Given the description of an element on the screen output the (x, y) to click on. 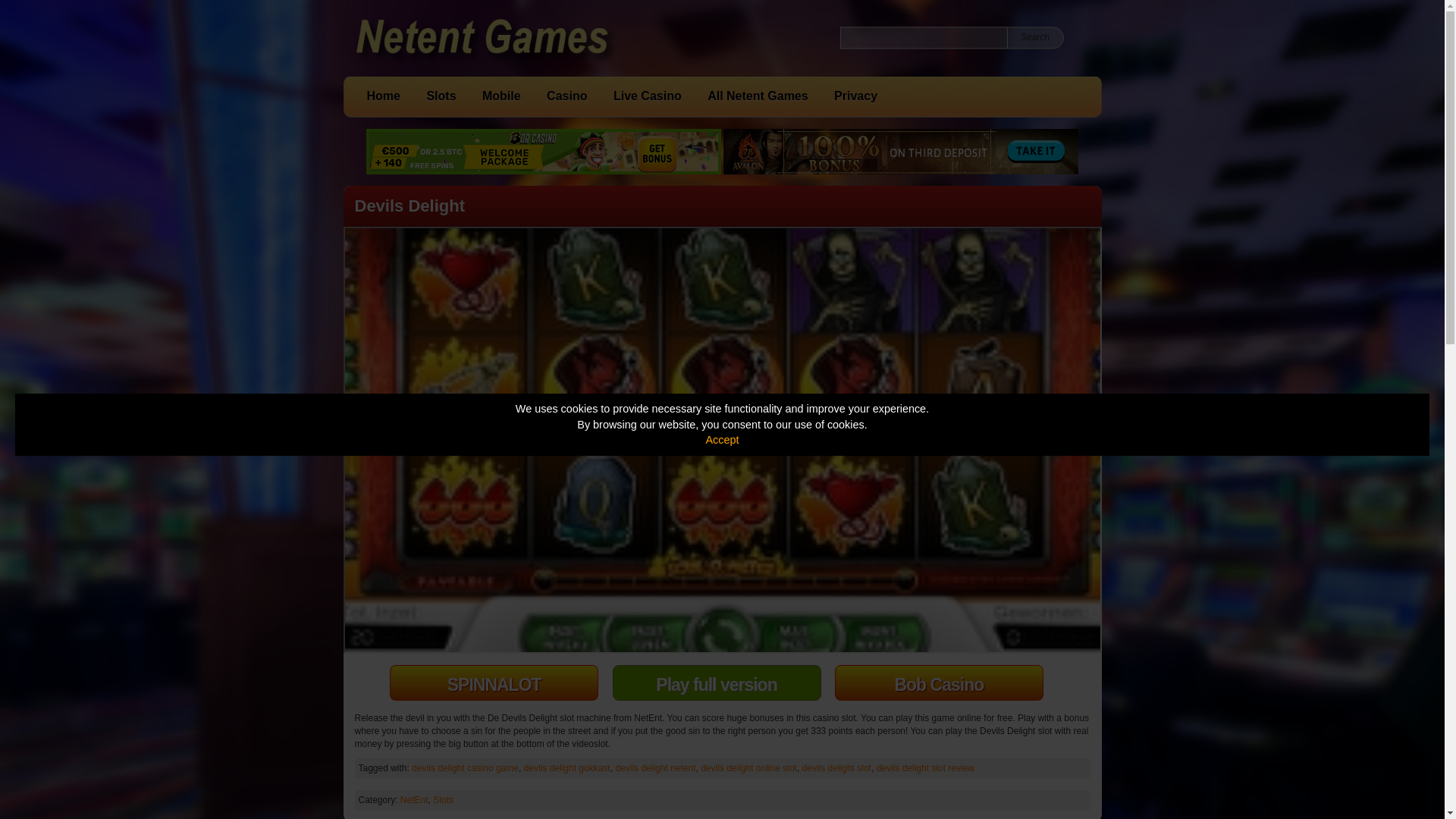
Slots (441, 95)
Casino (566, 95)
devils delight casino game (465, 767)
Home (383, 95)
Mobile (501, 95)
devils delight gokkast (567, 767)
Accept (721, 439)
Live Casino (646, 95)
SPINNALOT (494, 683)
